Given the description of an element on the screen output the (x, y) to click on. 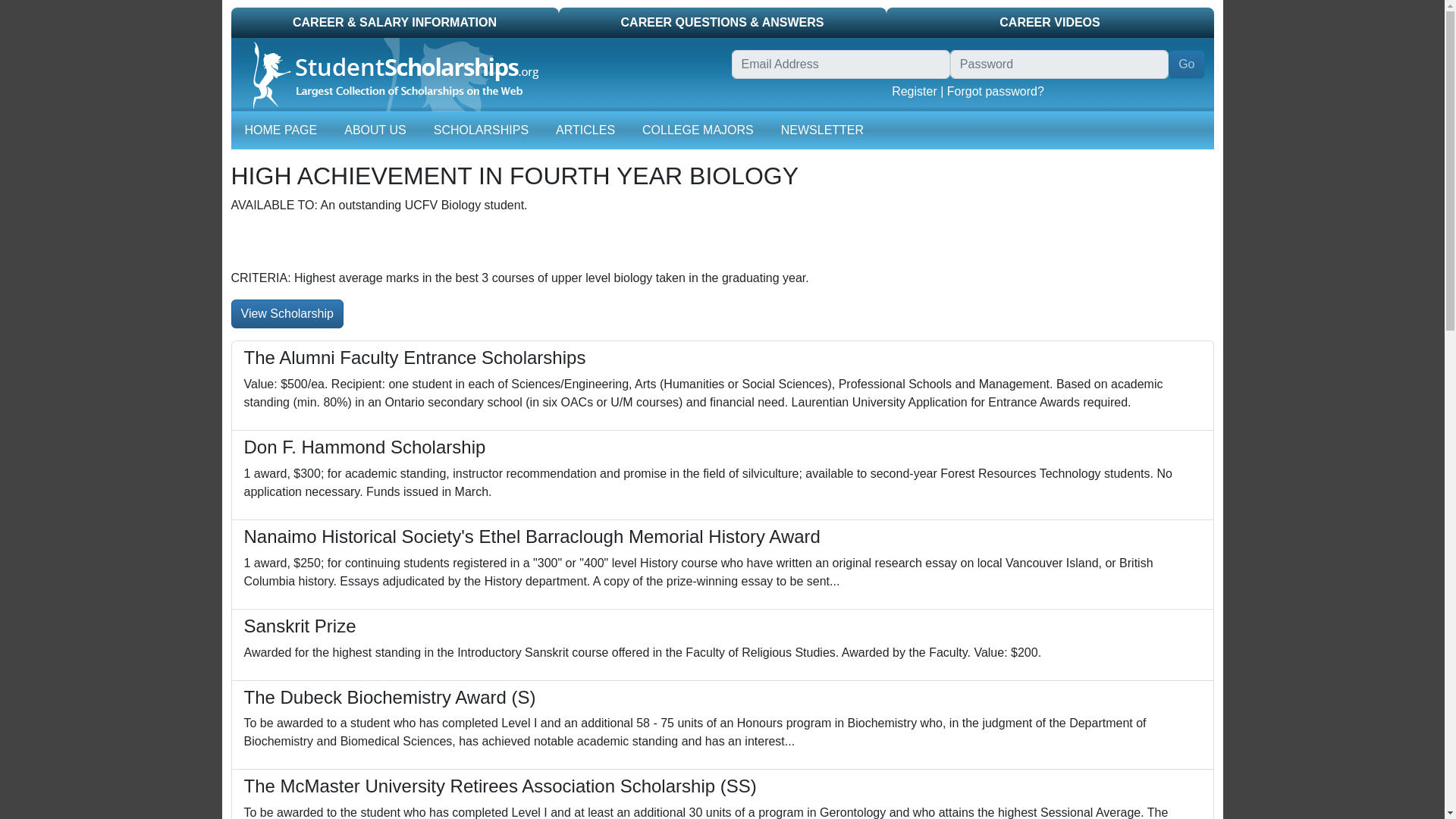
ABOUT US (374, 130)
StudentScholarships (388, 74)
COLLEGE MAJORS (698, 130)
NEWSLETTER (821, 130)
Go (1186, 63)
View Scholarship (286, 313)
Register (914, 91)
Forgot password? (995, 91)
CAREER VIDEOS (1048, 22)
Go (1186, 63)
